Given the description of an element on the screen output the (x, y) to click on. 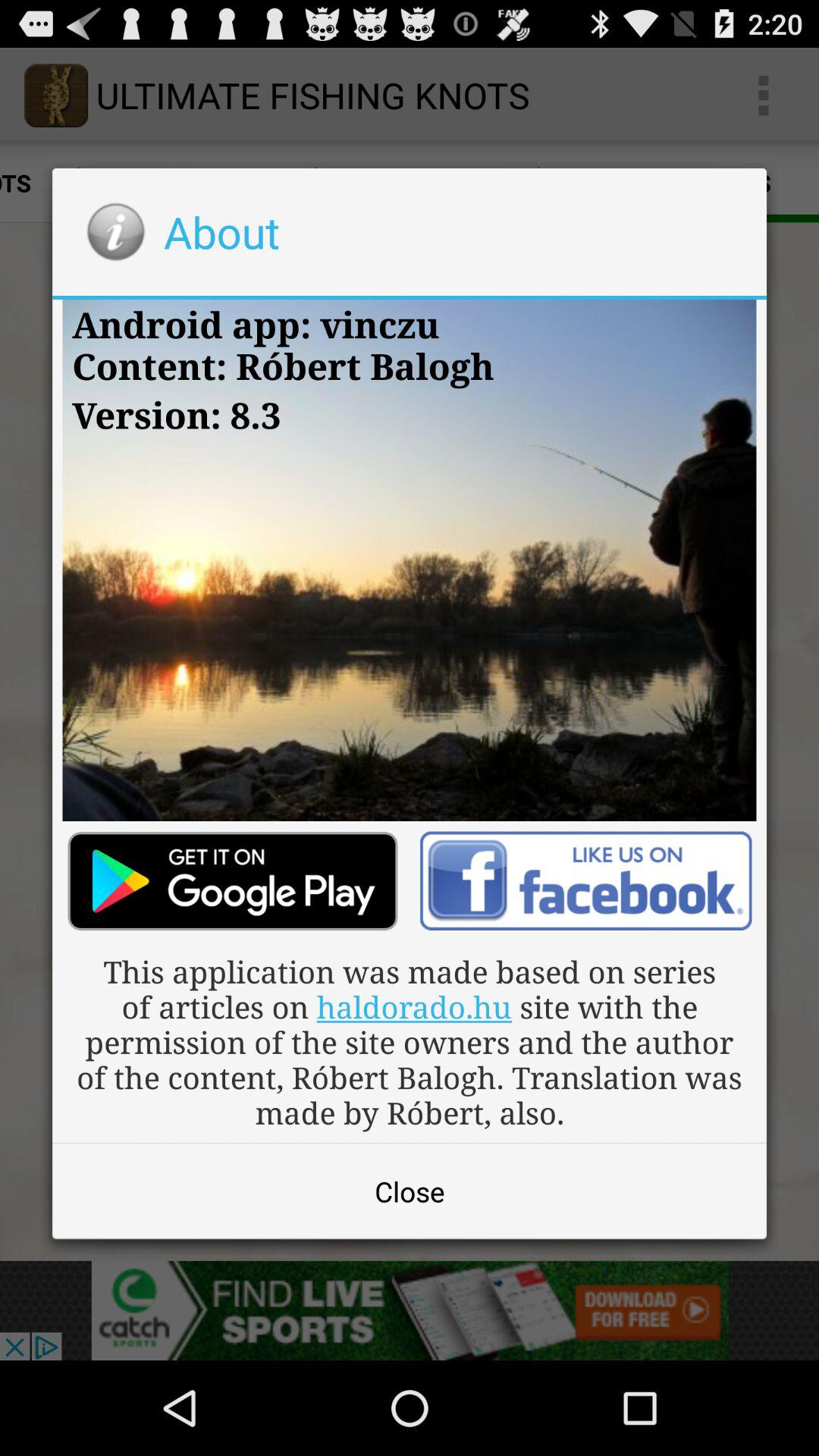
download app (232, 881)
